Given the description of an element on the screen output the (x, y) to click on. 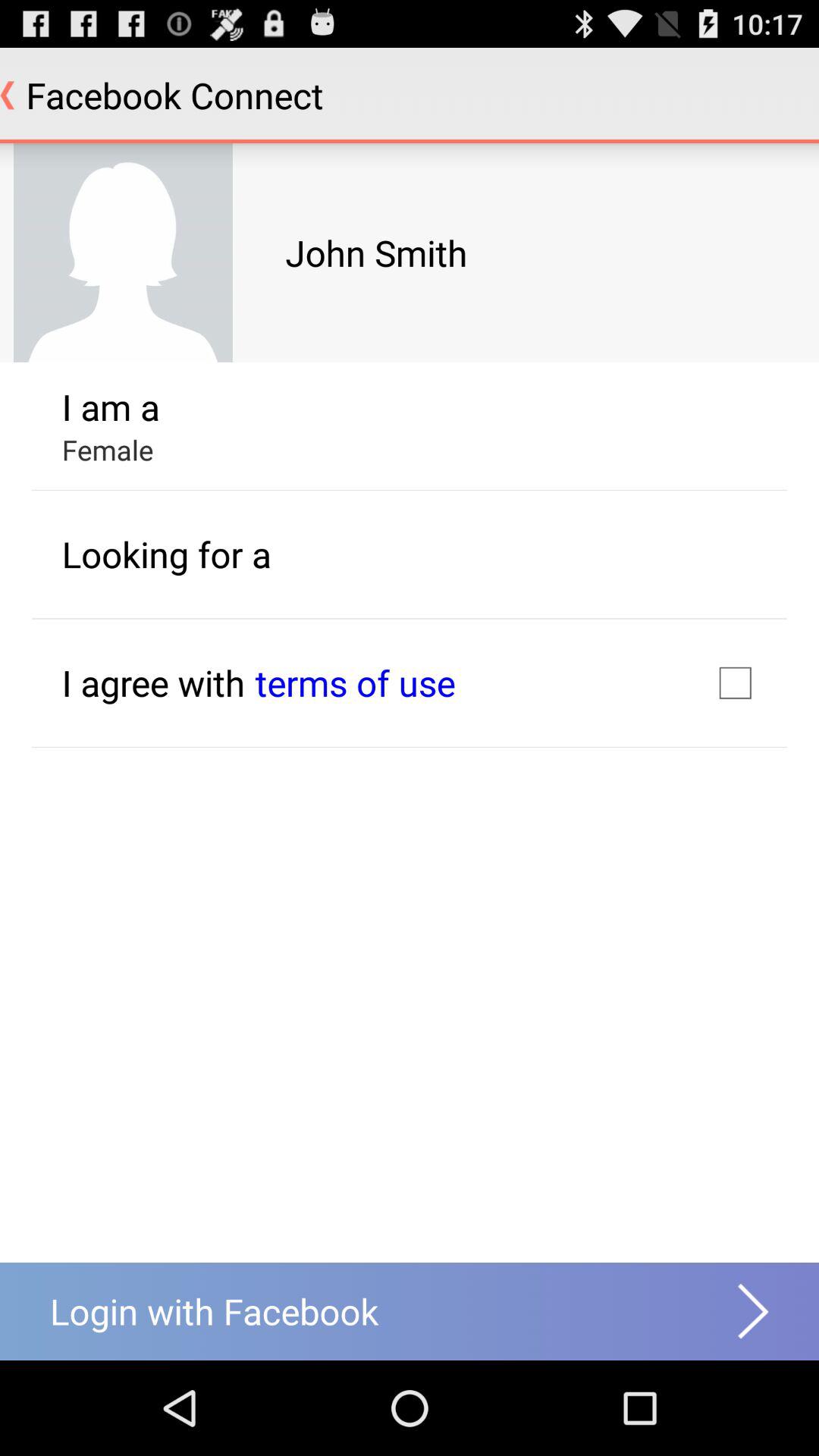
open item above female icon (110, 406)
